Given the description of an element on the screen output the (x, y) to click on. 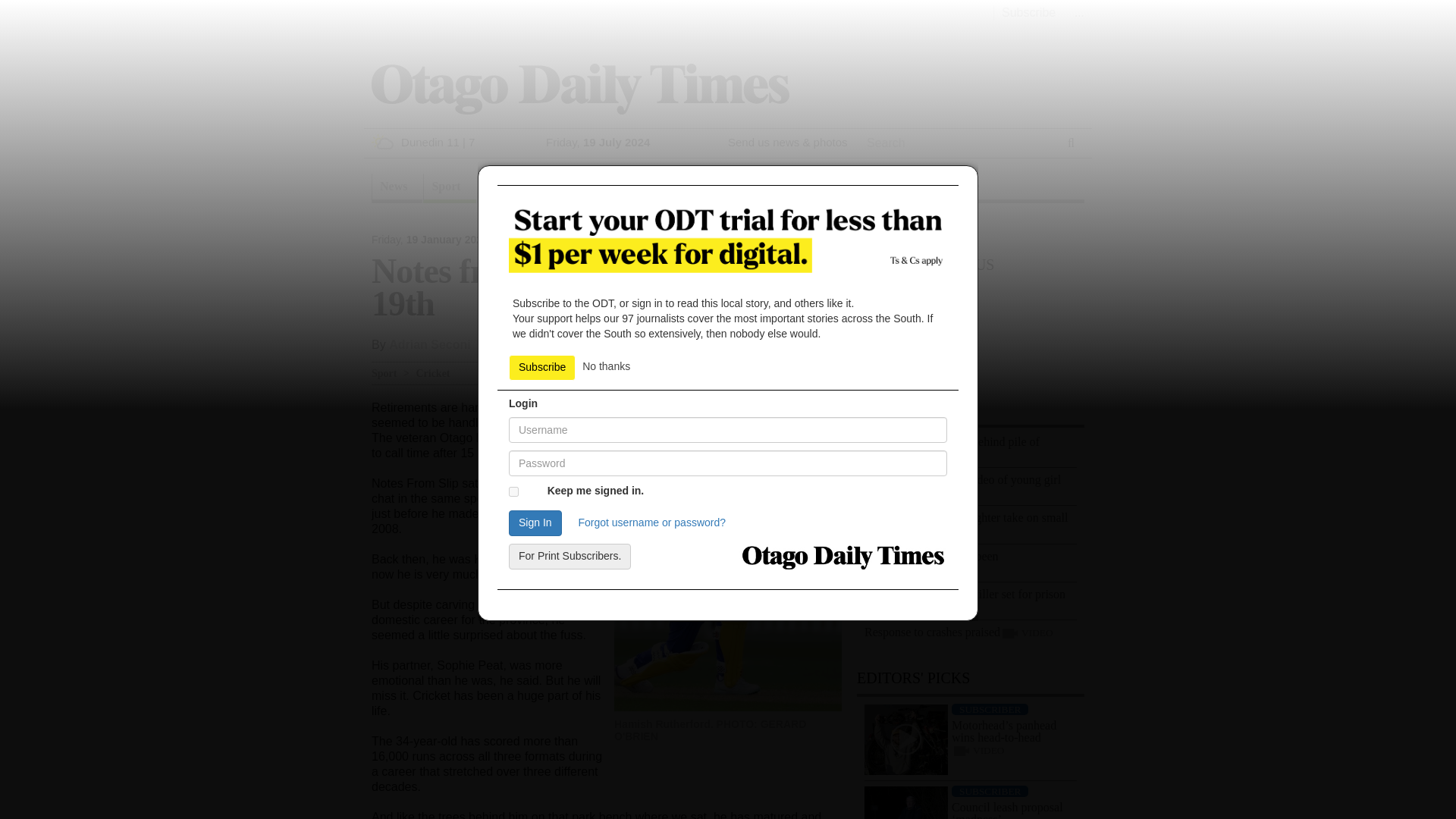
Partly cloudy (382, 141)
Facebook (757, 339)
ShareThis (835, 339)
Search (886, 161)
Subscribe (1028, 11)
Sport (449, 188)
News (396, 188)
Twitter (805, 339)
Enter the terms you wish to search for. (957, 143)
Home (580, 87)
